Given the description of an element on the screen output the (x, y) to click on. 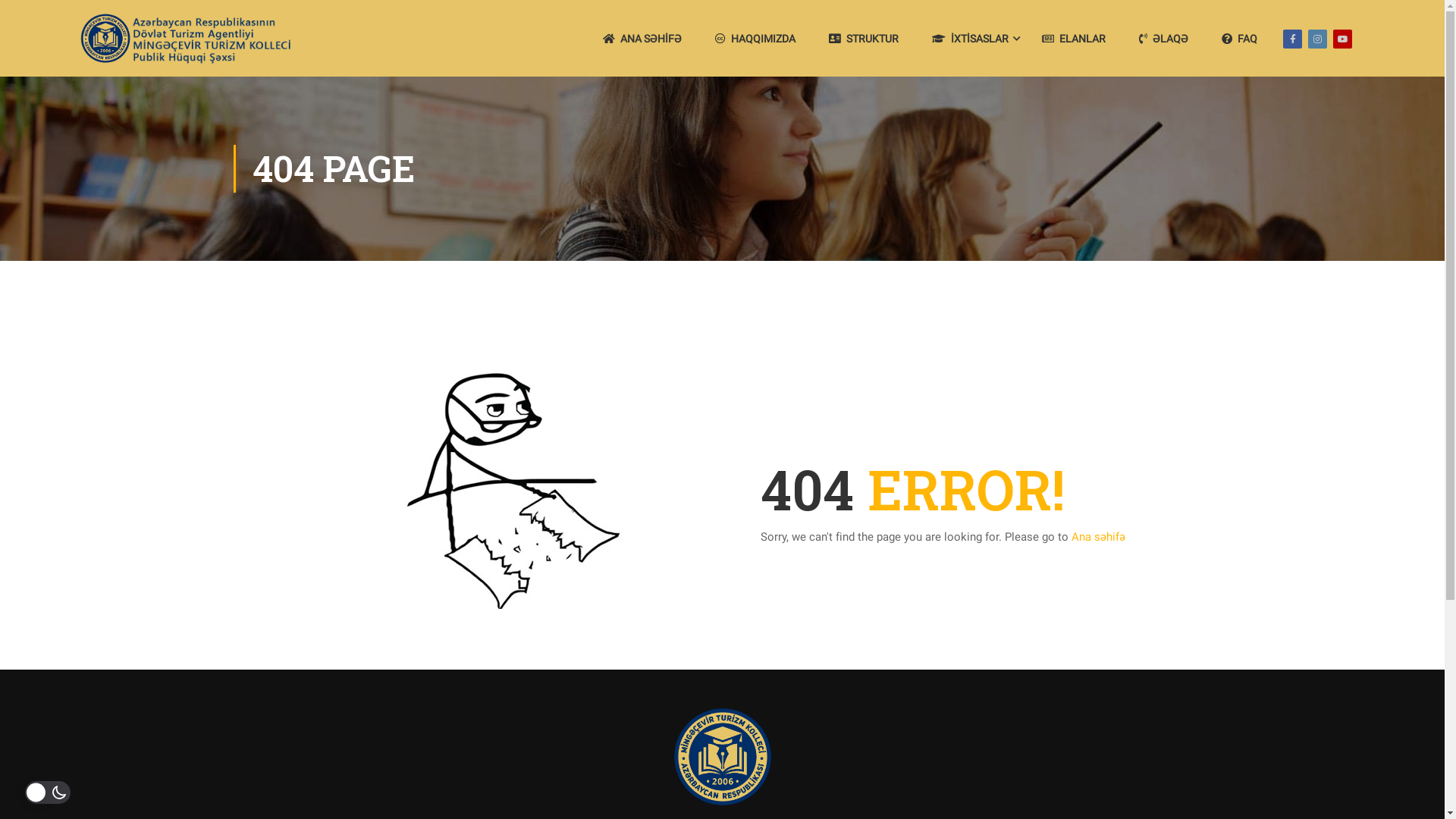
HAQQIMIZDA Element type: text (754, 38)
ELANLAR Element type: text (1073, 38)
STRUKTUR Element type: text (863, 38)
FAQ Element type: text (1239, 38)
